Given the description of an element on the screen output the (x, y) to click on. 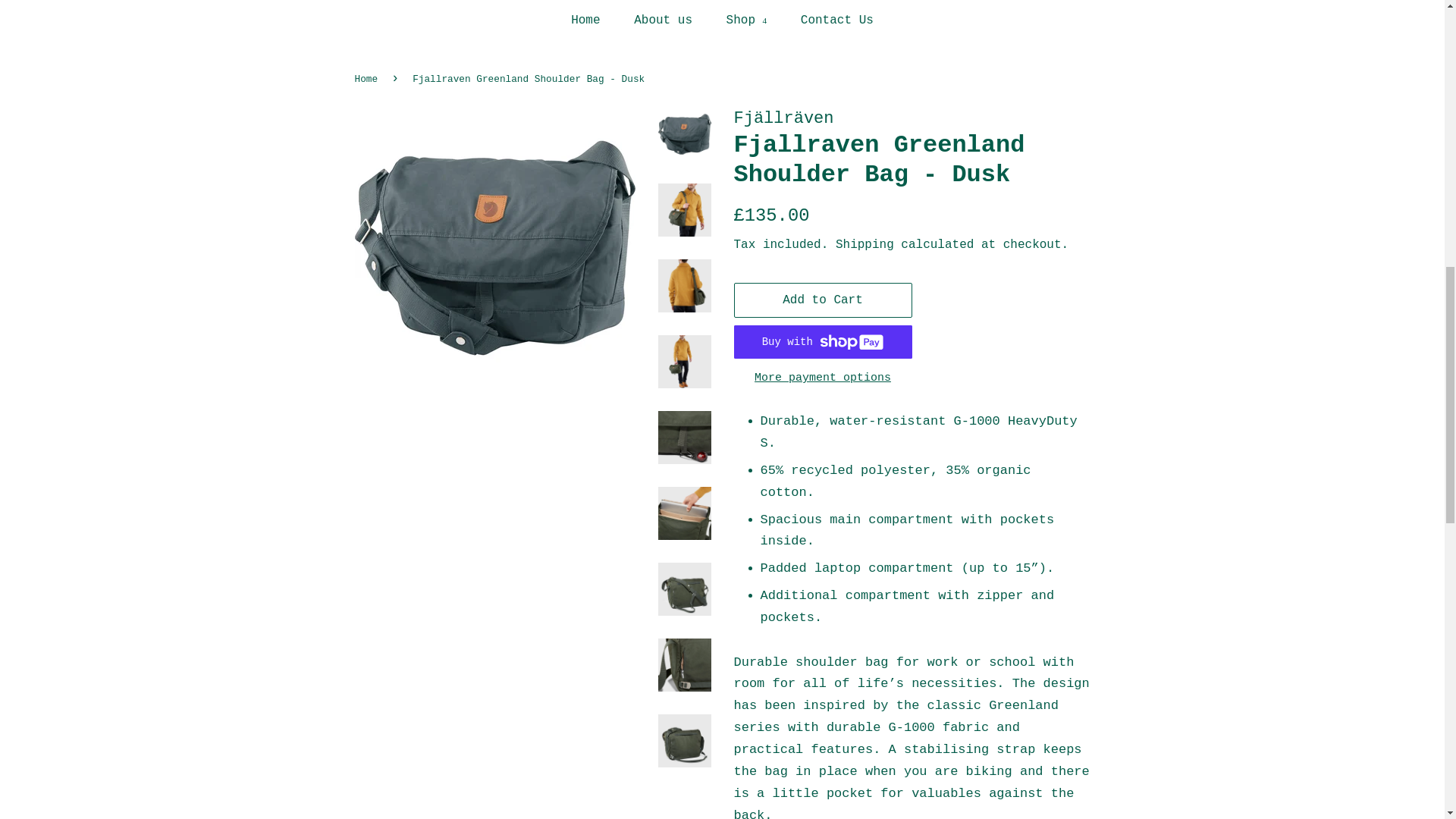
Back to the frontpage (368, 79)
